Given the description of an element on the screen output the (x, y) to click on. 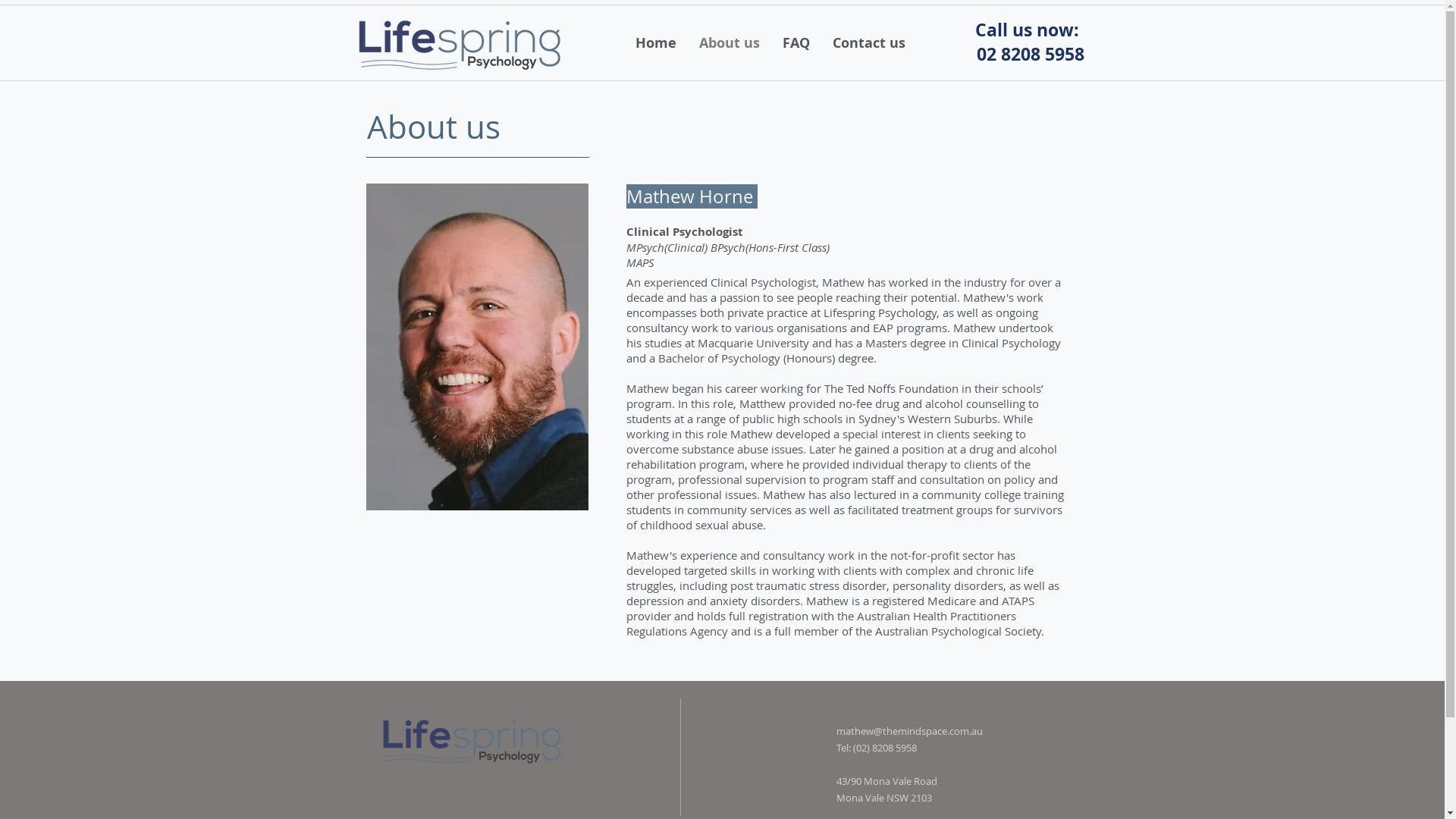
Contact us Element type: text (868, 42)
mathew@themindspace.com.au Element type: text (908, 730)
About us Element type: text (729, 42)
79079_Lifespring_Psychology_logo_01 final.png Element type: hover (459, 43)
Home Element type: text (655, 42)
FAQ Element type: text (796, 42)
